Given the description of an element on the screen output the (x, y) to click on. 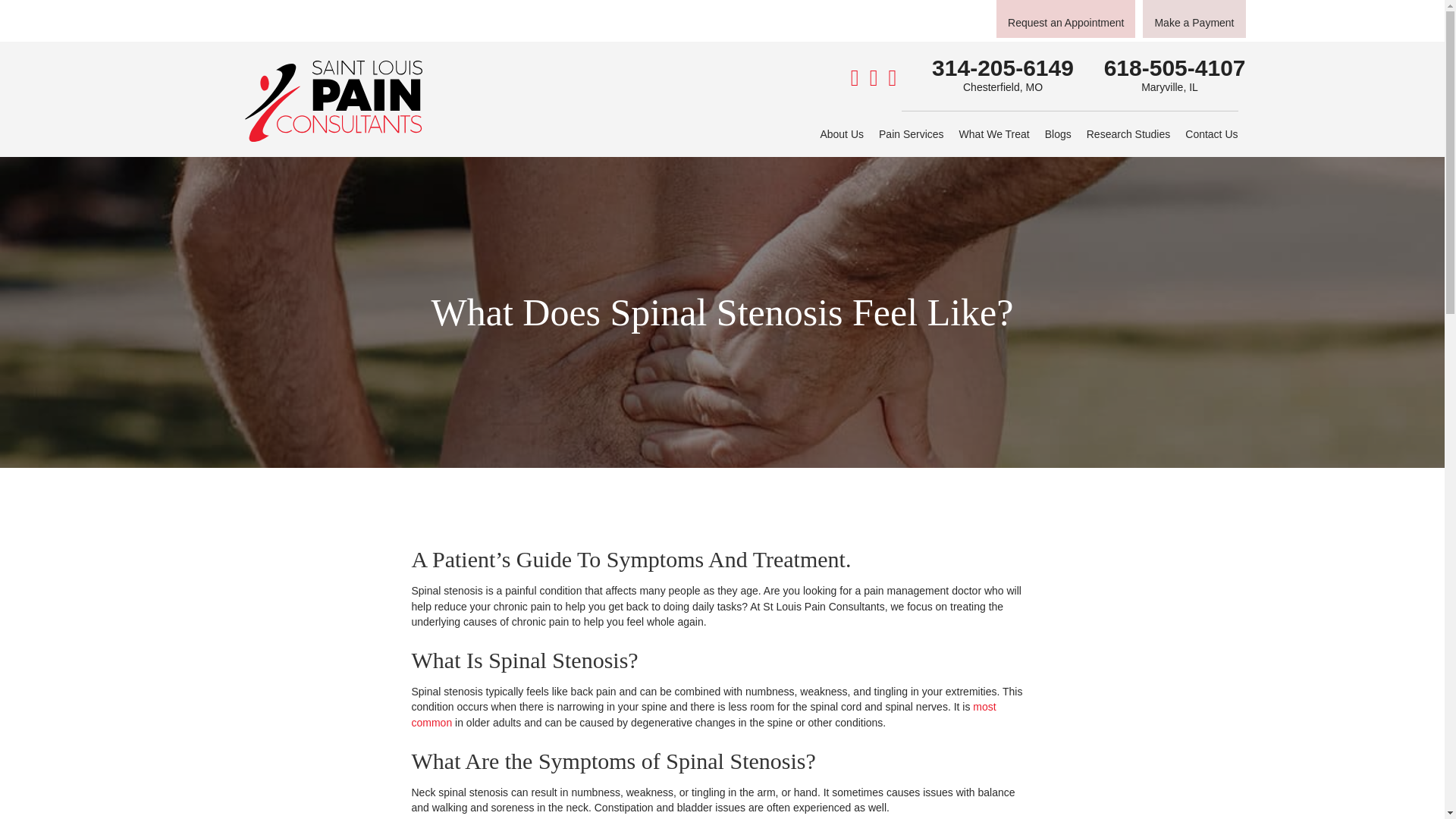
314-205-6149 (1002, 67)
Pain Services (911, 133)
Chesterfield, MO (1002, 87)
Request an Appointment (1065, 18)
About Us (841, 133)
Make a Payment (1193, 18)
What We Treat (994, 133)
314-205-6149 (1002, 67)
stlouis-pain-consultants-logo (333, 100)
618-505-4107 (1174, 67)
Maryville, IL (1169, 87)
618-505-4107 (1174, 67)
